Given the description of an element on the screen output the (x, y) to click on. 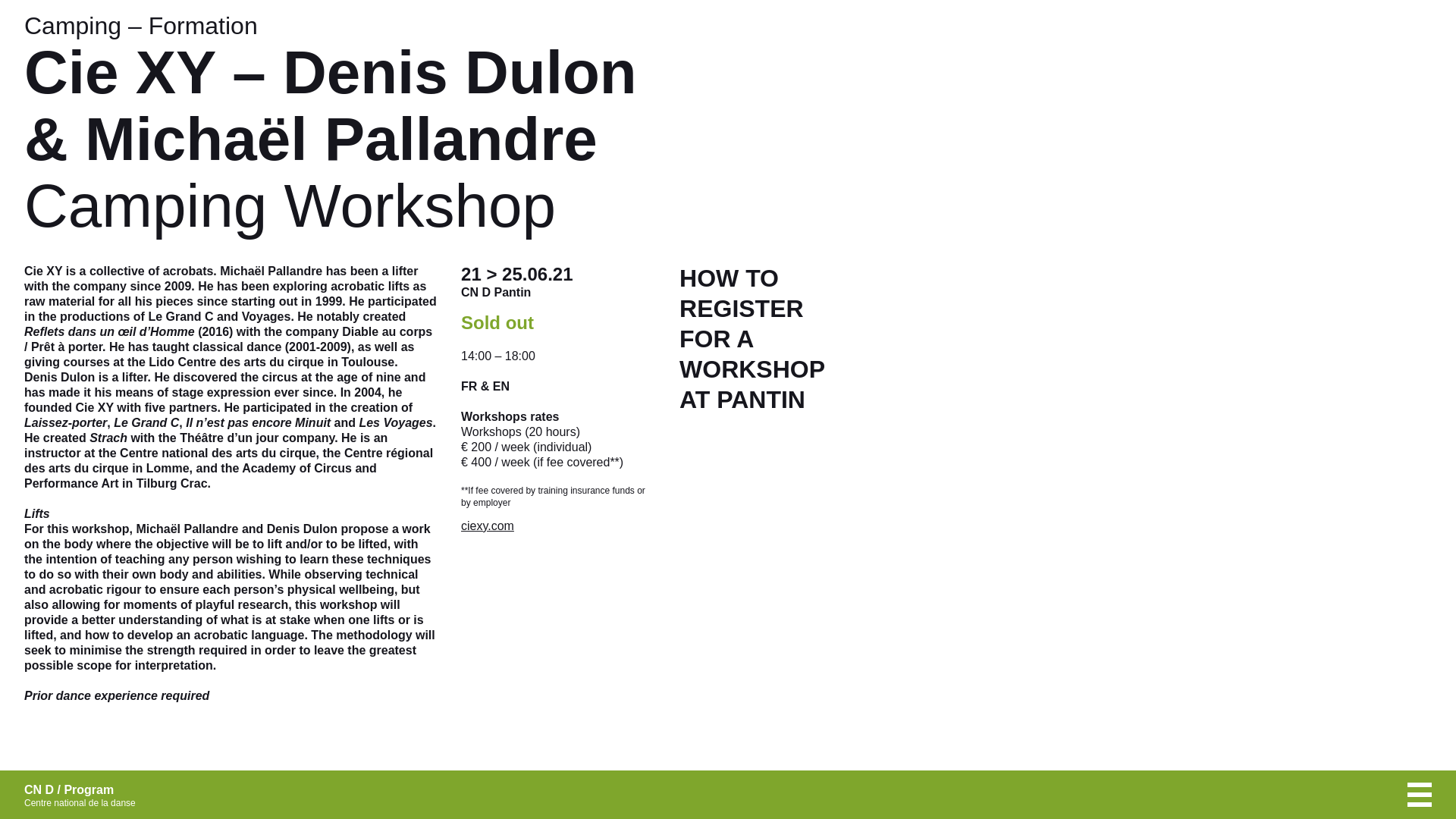
ciexy.com (776, 339)
Formation (487, 525)
Camping (202, 25)
Menu (72, 25)
Program (1419, 794)
CN D (88, 789)
